Given the description of an element on the screen output the (x, y) to click on. 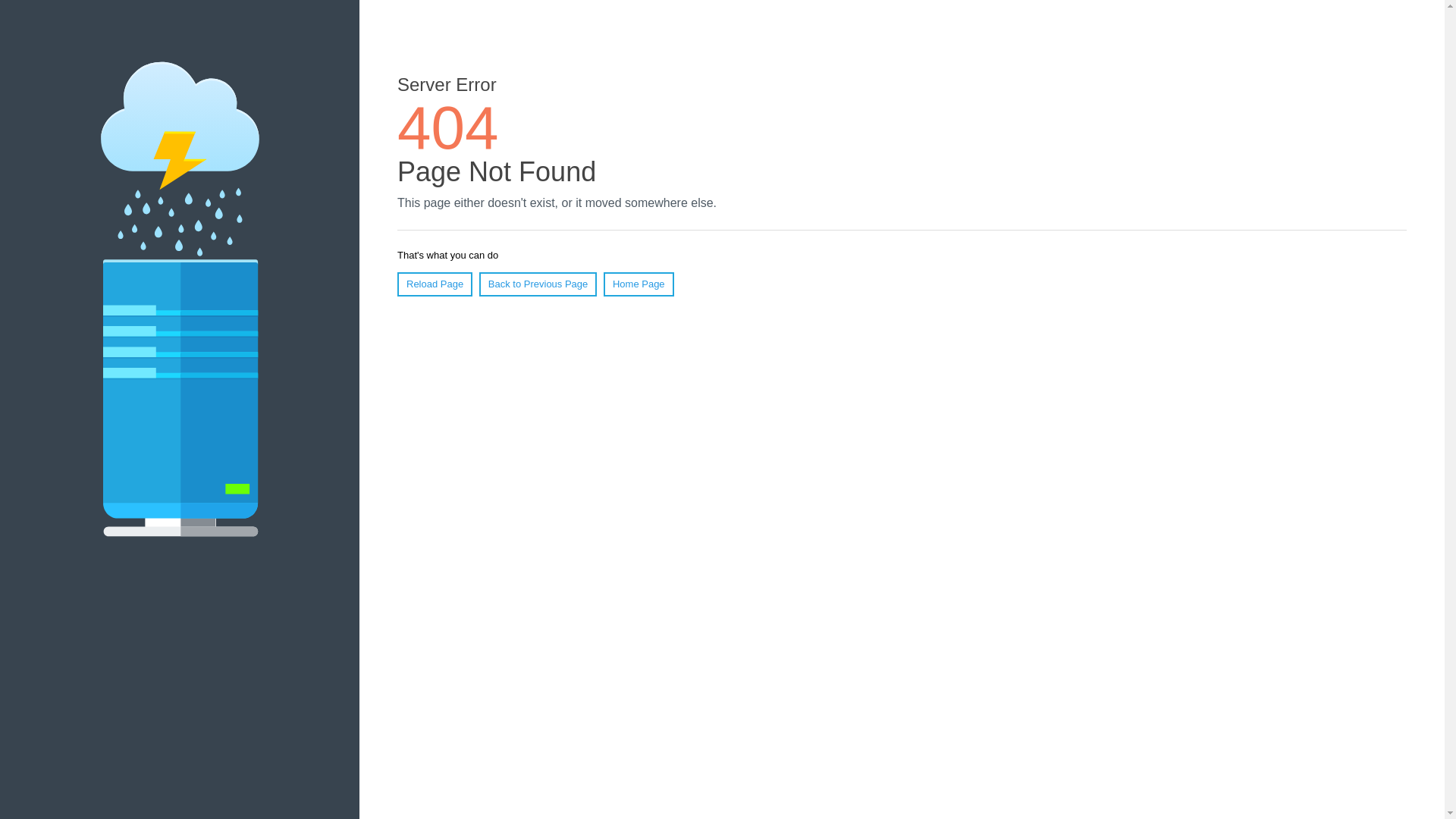
Reload Page Element type: text (434, 284)
Home Page Element type: text (638, 284)
Back to Previous Page Element type: text (538, 284)
